Given the description of an element on the screen output the (x, y) to click on. 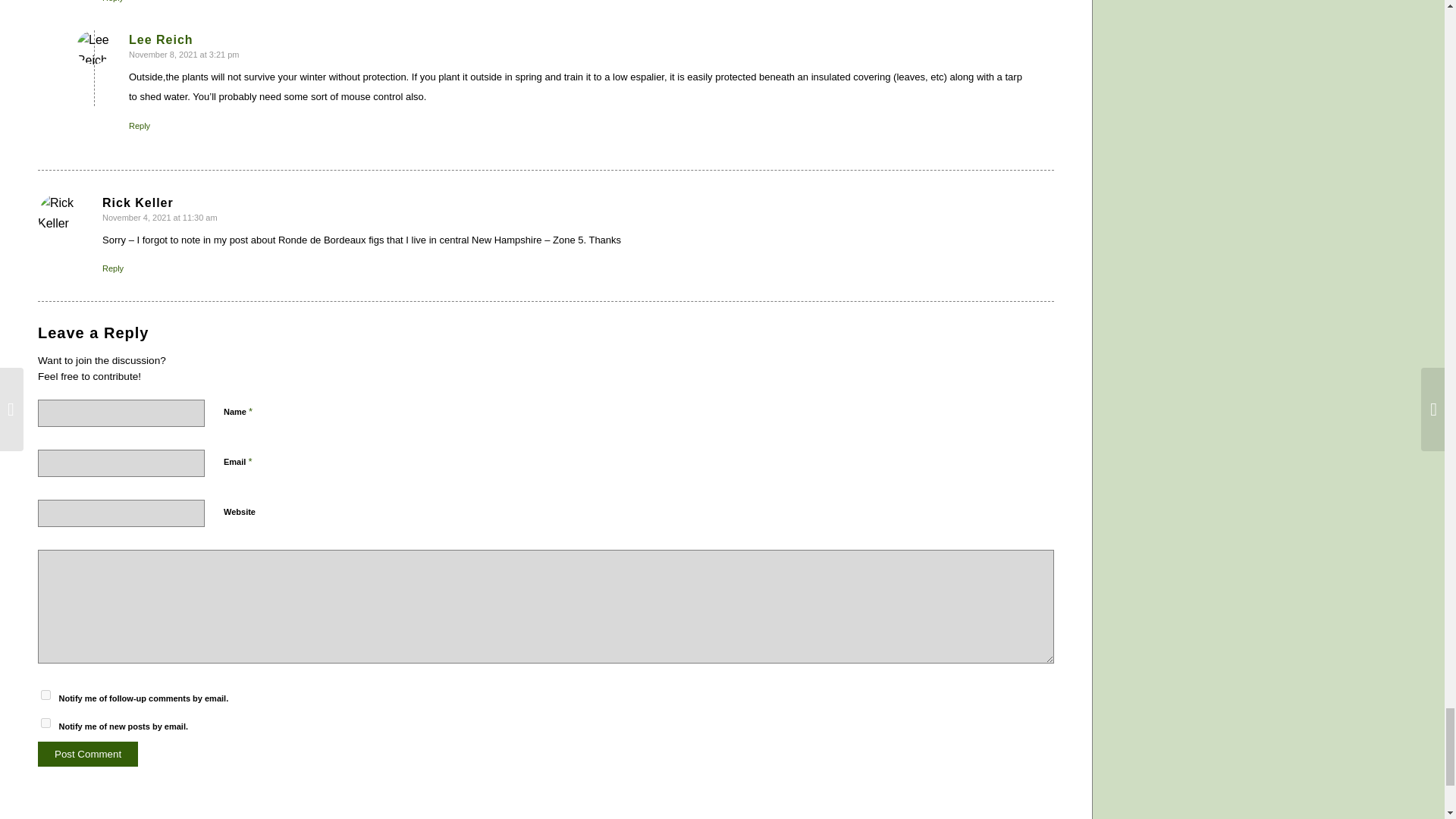
subscribe (45, 695)
Post Comment (87, 754)
subscribe (45, 723)
